Given the description of an element on the screen output the (x, y) to click on. 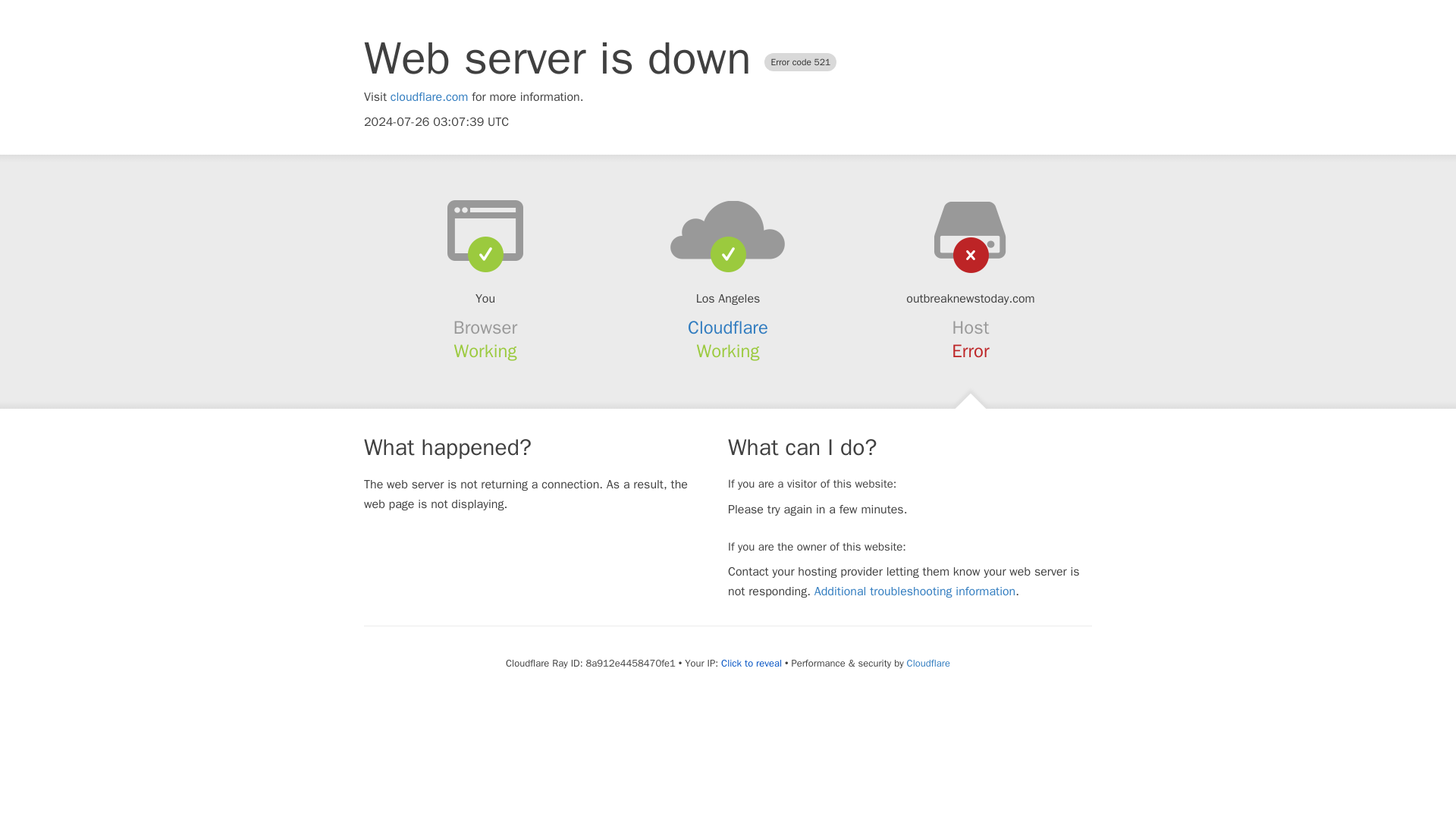
Cloudflare (928, 662)
cloudflare.com (429, 96)
Cloudflare (727, 327)
Additional troubleshooting information (913, 590)
Click to reveal (750, 663)
